Given the description of an element on the screen output the (x, y) to click on. 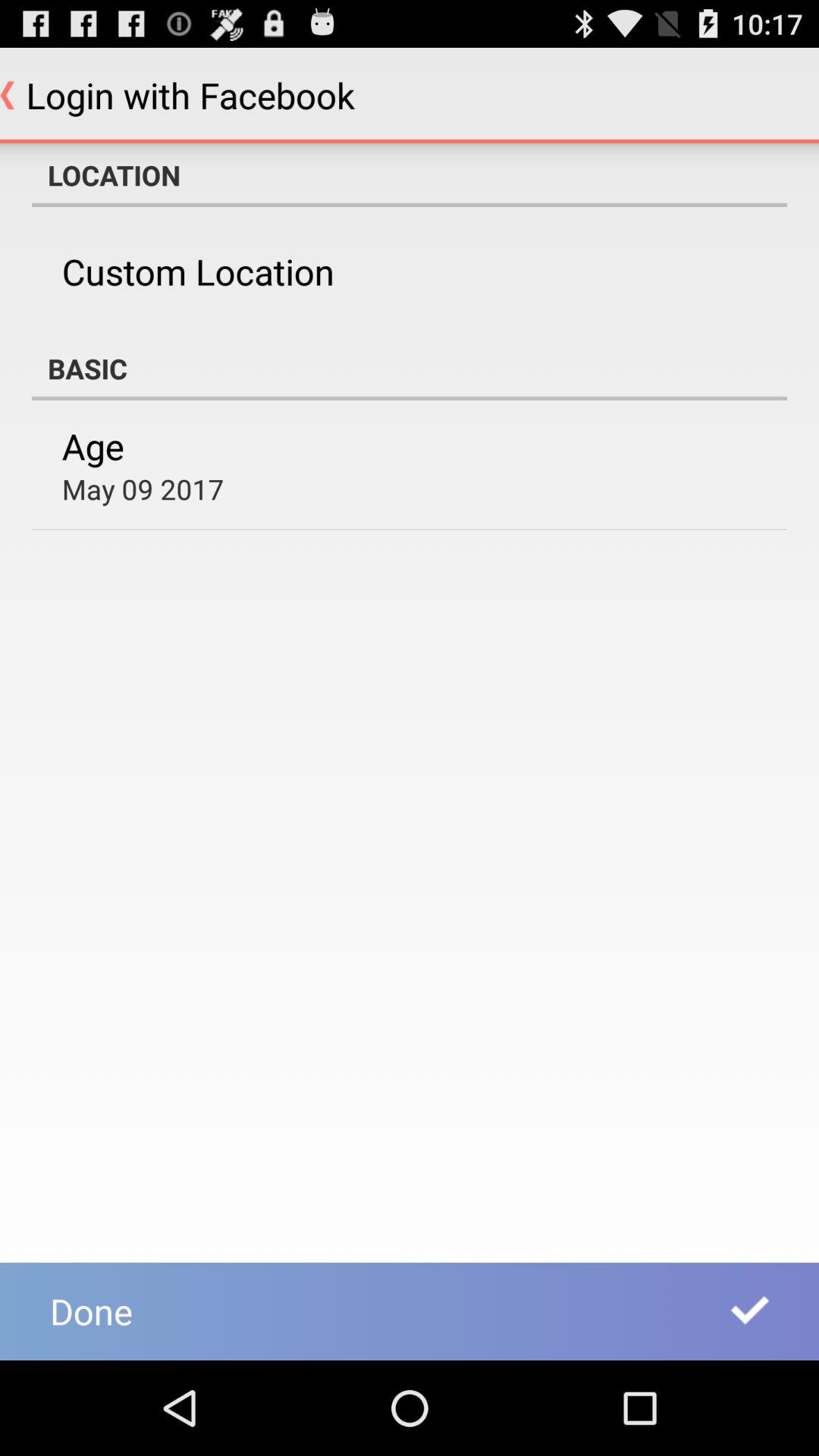
open the item above the age (409, 368)
